Given the description of an element on the screen output the (x, y) to click on. 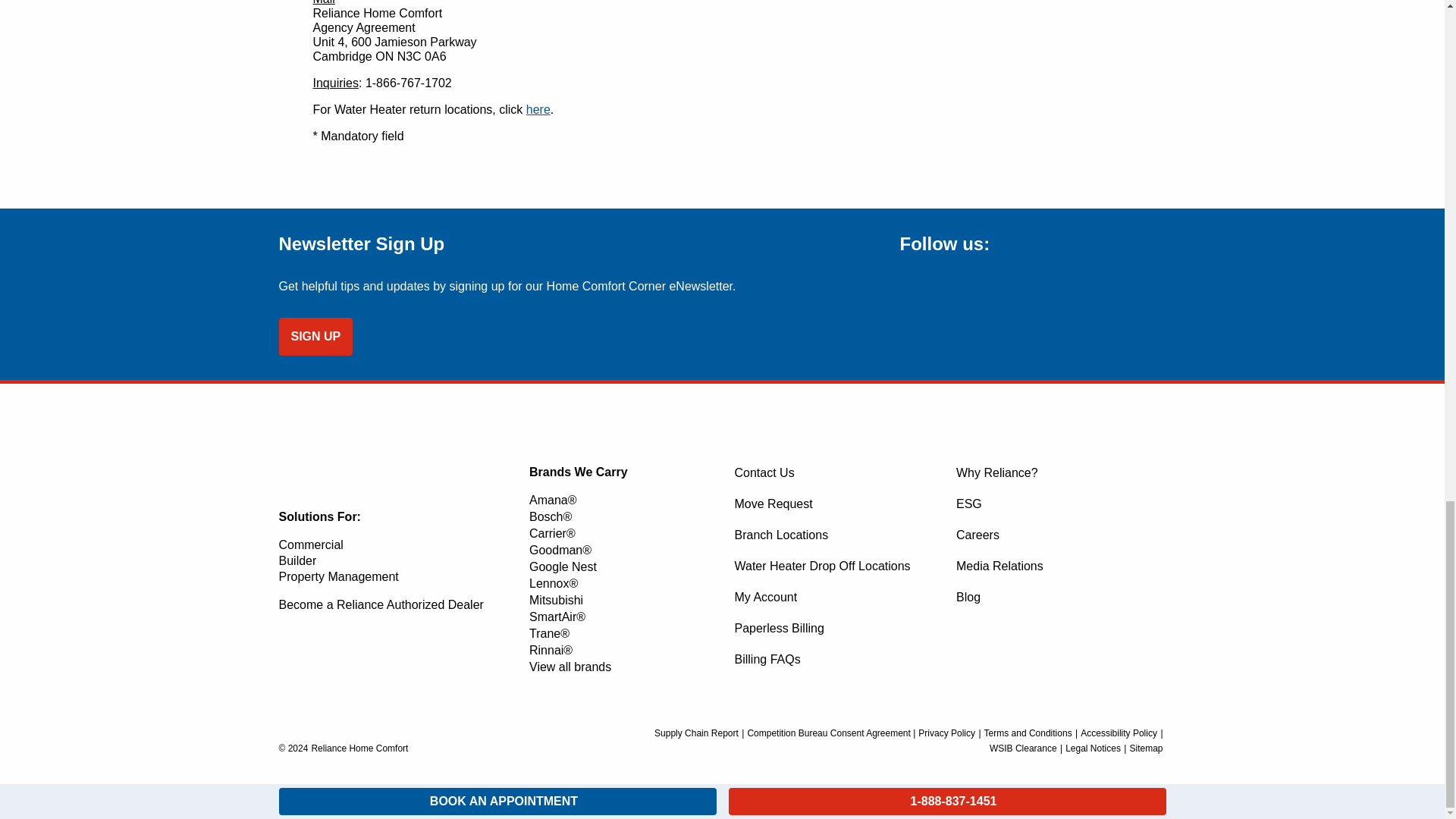
Builder (298, 560)
Property Management (338, 576)
Become a Reliance Authorized Dealer (381, 604)
Commercial (311, 544)
